Given the description of an element on the screen output the (x, y) to click on. 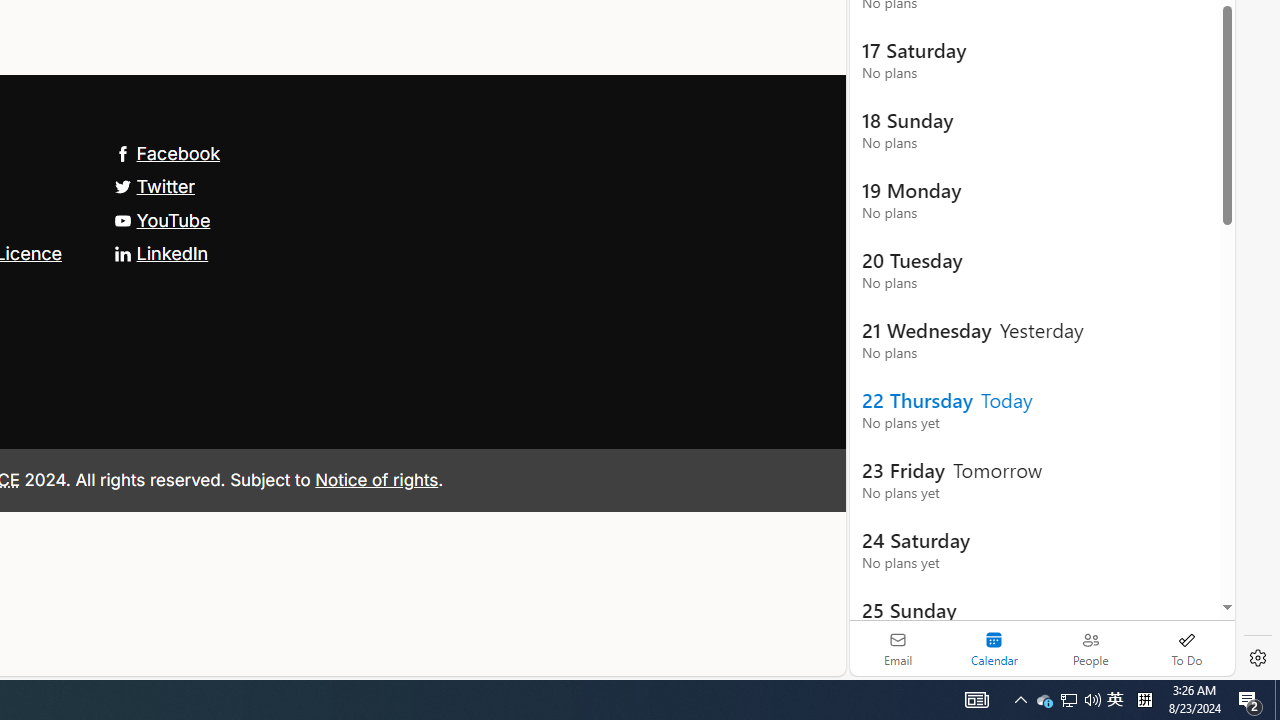
Notice of rights (376, 479)
YouTube (162, 219)
Facebook (167, 152)
Email (898, 648)
To Do (1186, 648)
People (1090, 648)
Twitter (154, 186)
Settings (1258, 658)
Selected calendar module. Date today is 22 (994, 648)
